Given the description of an element on the screen output the (x, y) to click on. 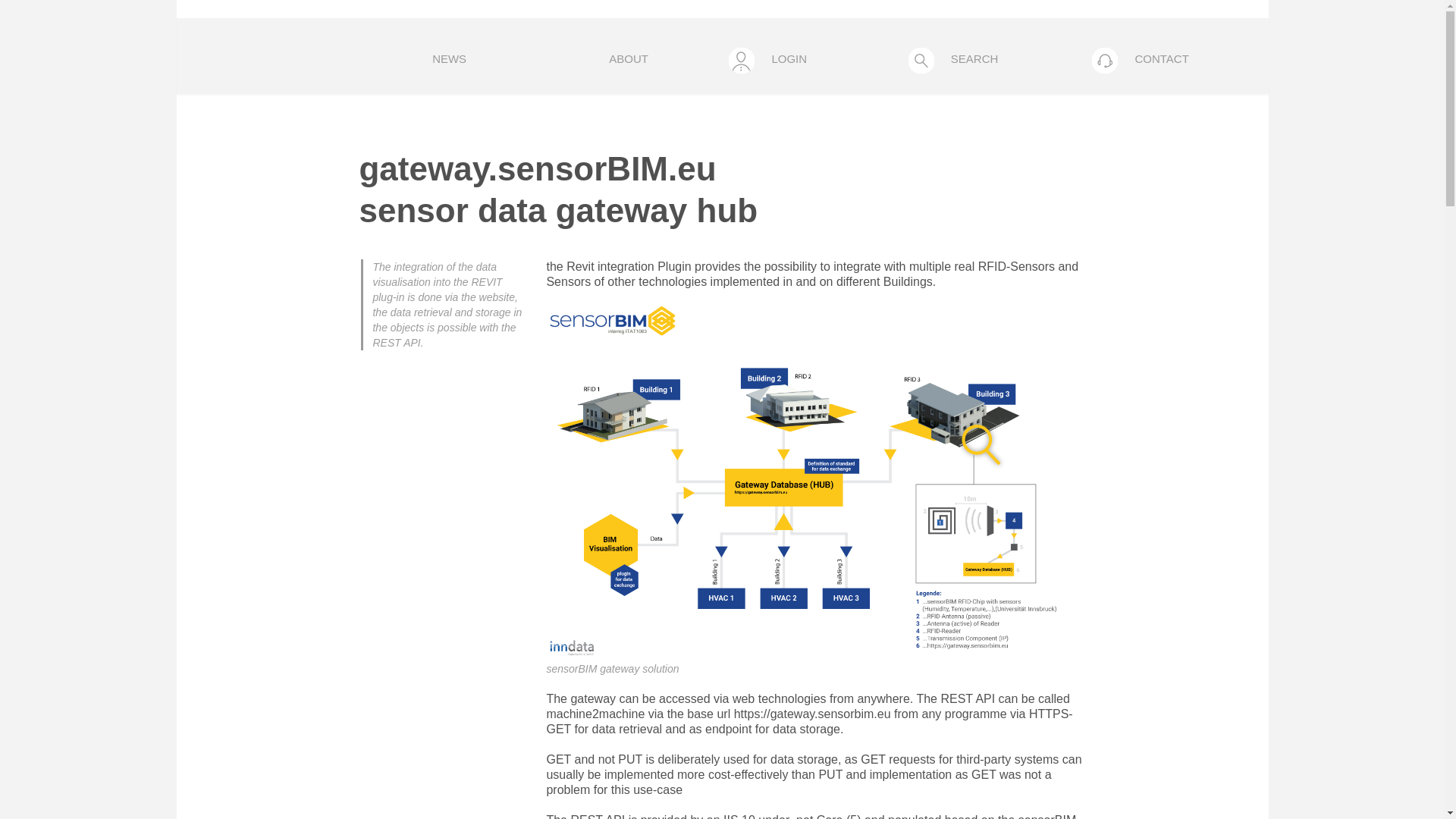
Suche starten (986, 180)
NEWS (449, 59)
anmelden (807, 216)
CONTACT (1175, 59)
